Given the description of an element on the screen output the (x, y) to click on. 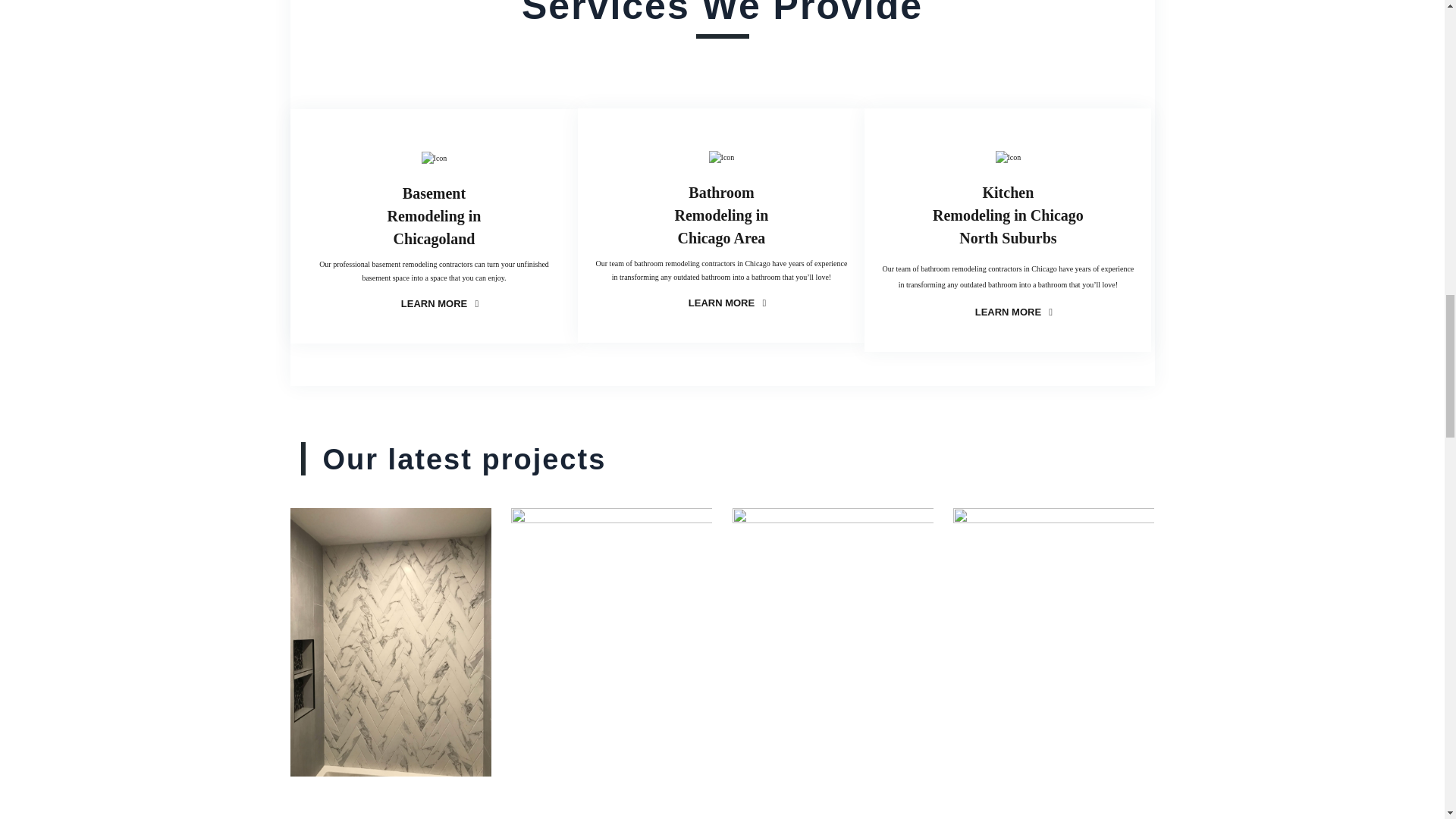
LEARN MORE (721, 215)
LEARN MORE (1008, 312)
LEARN MORE (434, 216)
